Given the description of an element on the screen output the (x, y) to click on. 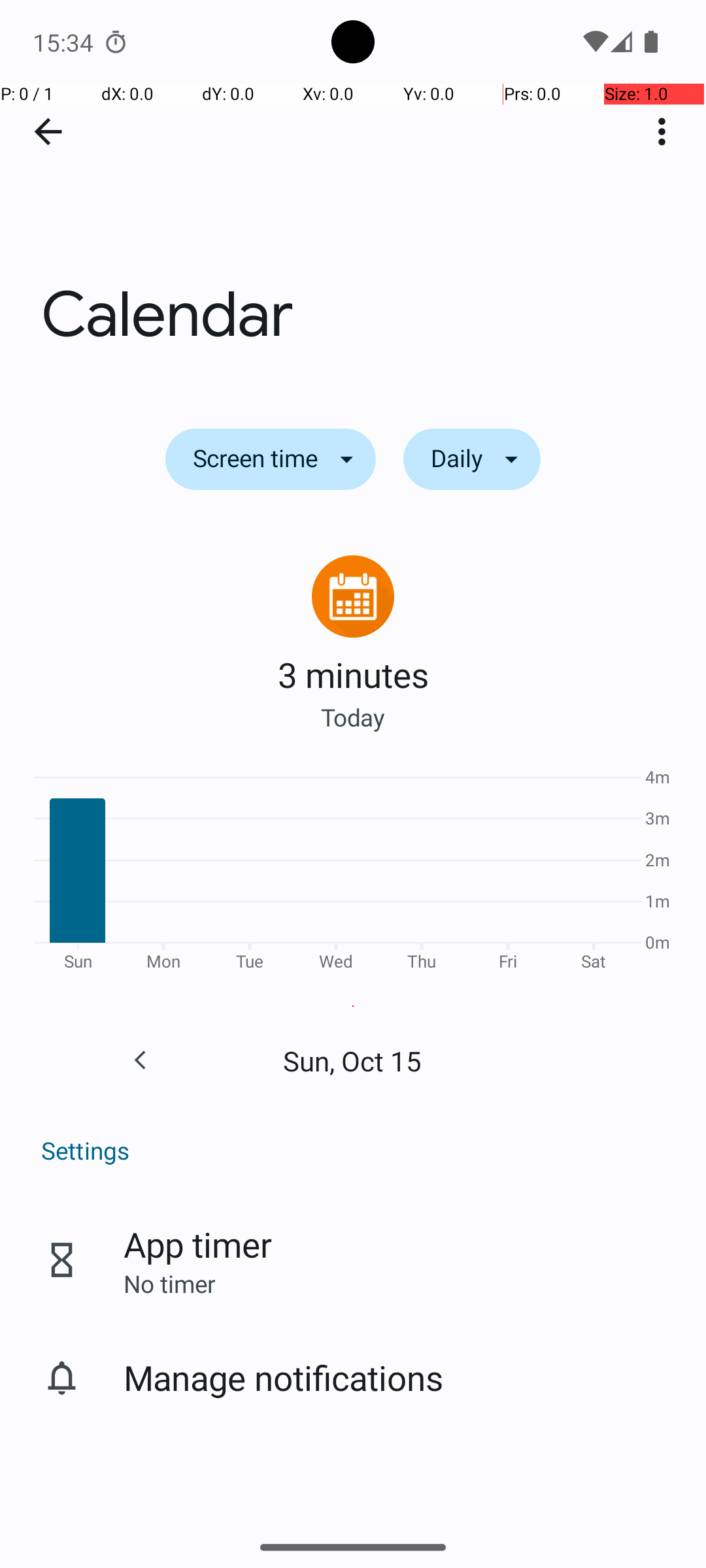
3 minutes Element type: android.widget.TextView (353, 674)
Bar Chart. Showing App usage data with 7 data points. Element type: android.view.ViewGroup (353, 873)
